Given the description of an element on the screen output the (x, y) to click on. 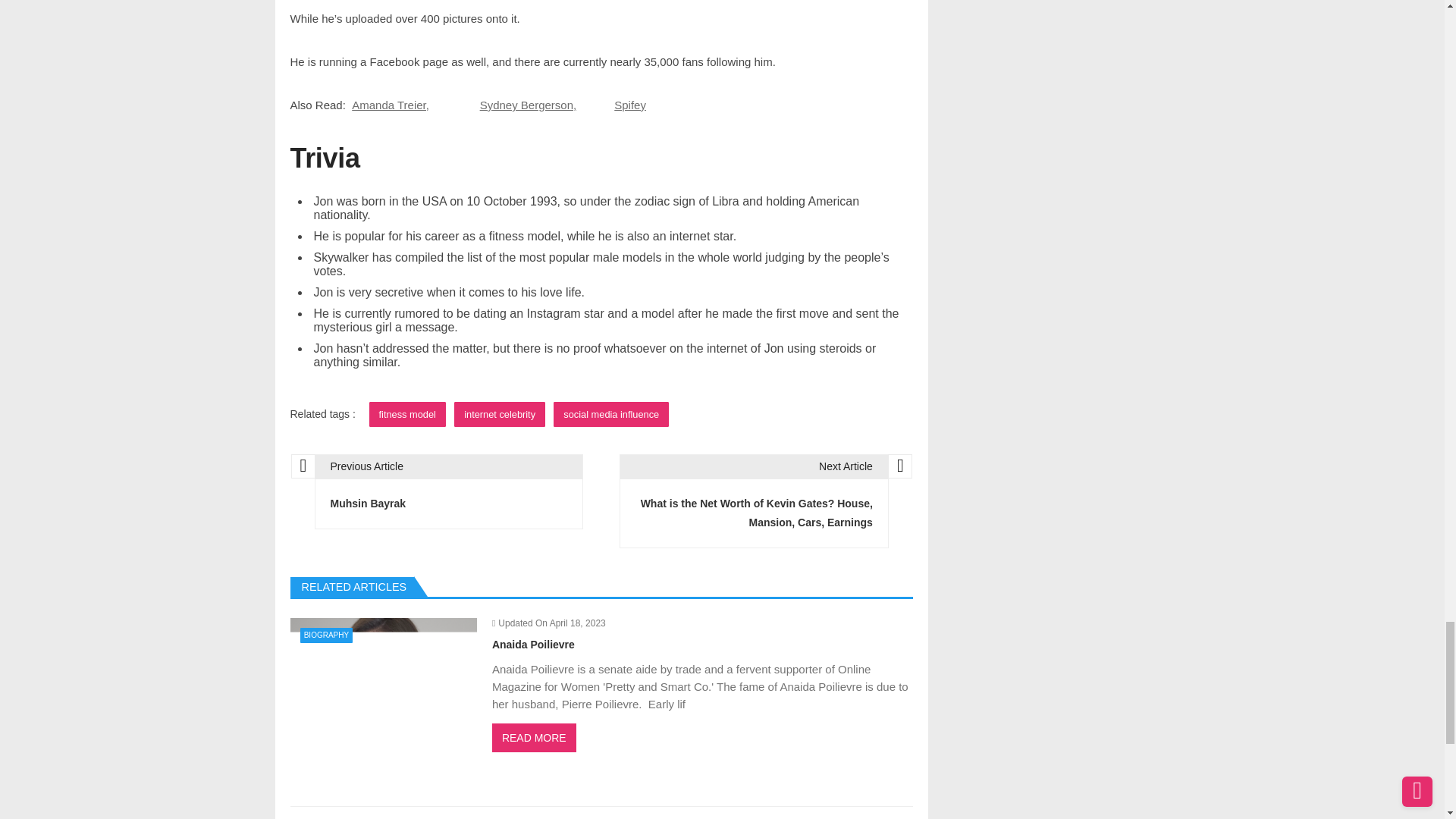
Spifey (630, 105)
fitness model (407, 414)
Anaida Poilievre (382, 704)
Amanda Treier, (390, 105)
internet celebrity (499, 414)
Sydney Bergerson, (528, 105)
